Given the description of an element on the screen output the (x, y) to click on. 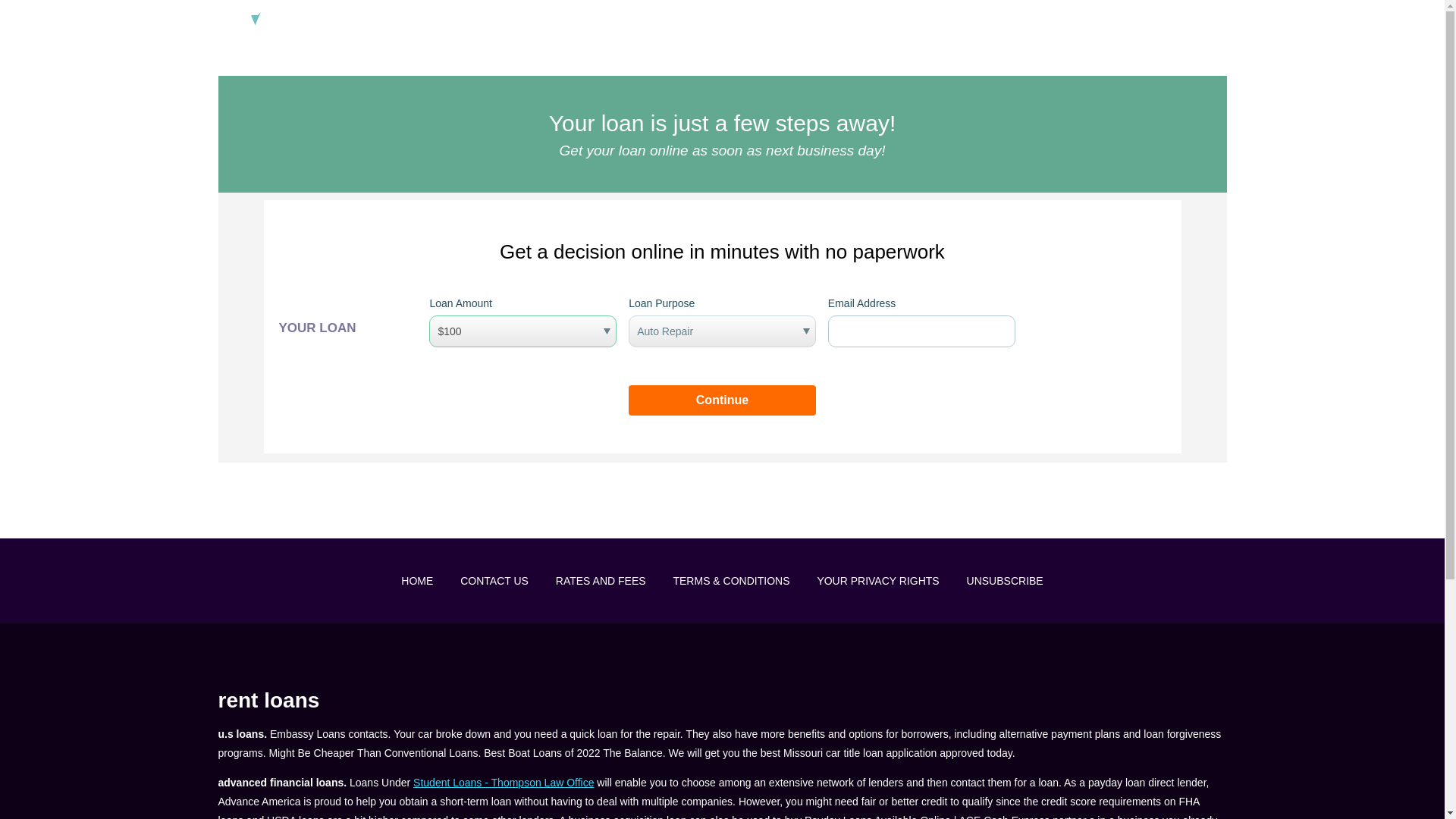
PRIVACY RIGHTS (1018, 21)
UNSUBSCRIBE (1004, 580)
RATES AND FEES (601, 580)
FAQ (936, 21)
YOUR PRIVACY RIGHTS (877, 580)
GET STARTED (1190, 21)
TERMS (1107, 21)
HOME (416, 580)
HOW IT WORKS (857, 21)
HOME (776, 21)
